Given the description of an element on the screen output the (x, y) to click on. 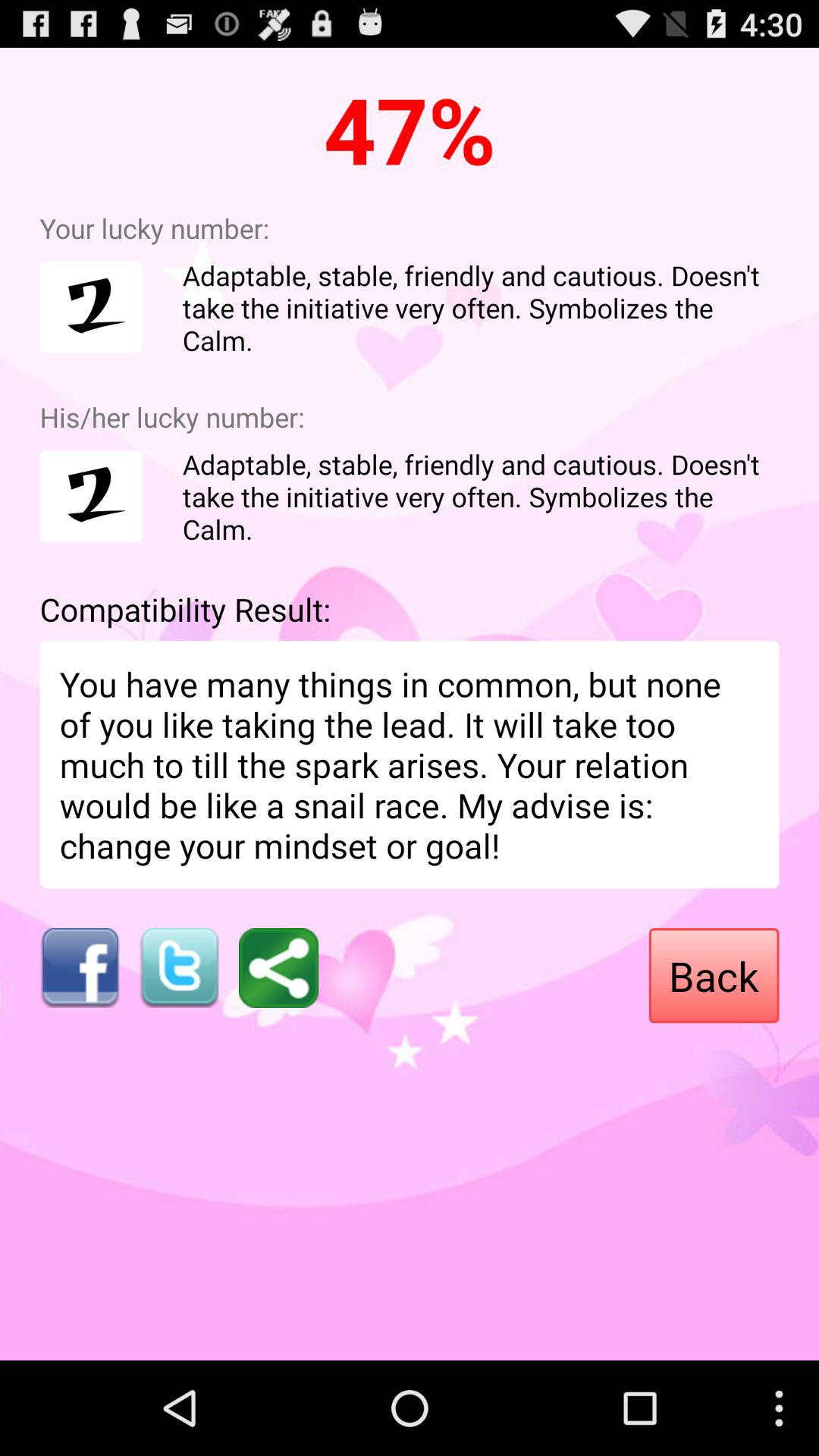
share the results (278, 967)
